Given the description of an element on the screen output the (x, y) to click on. 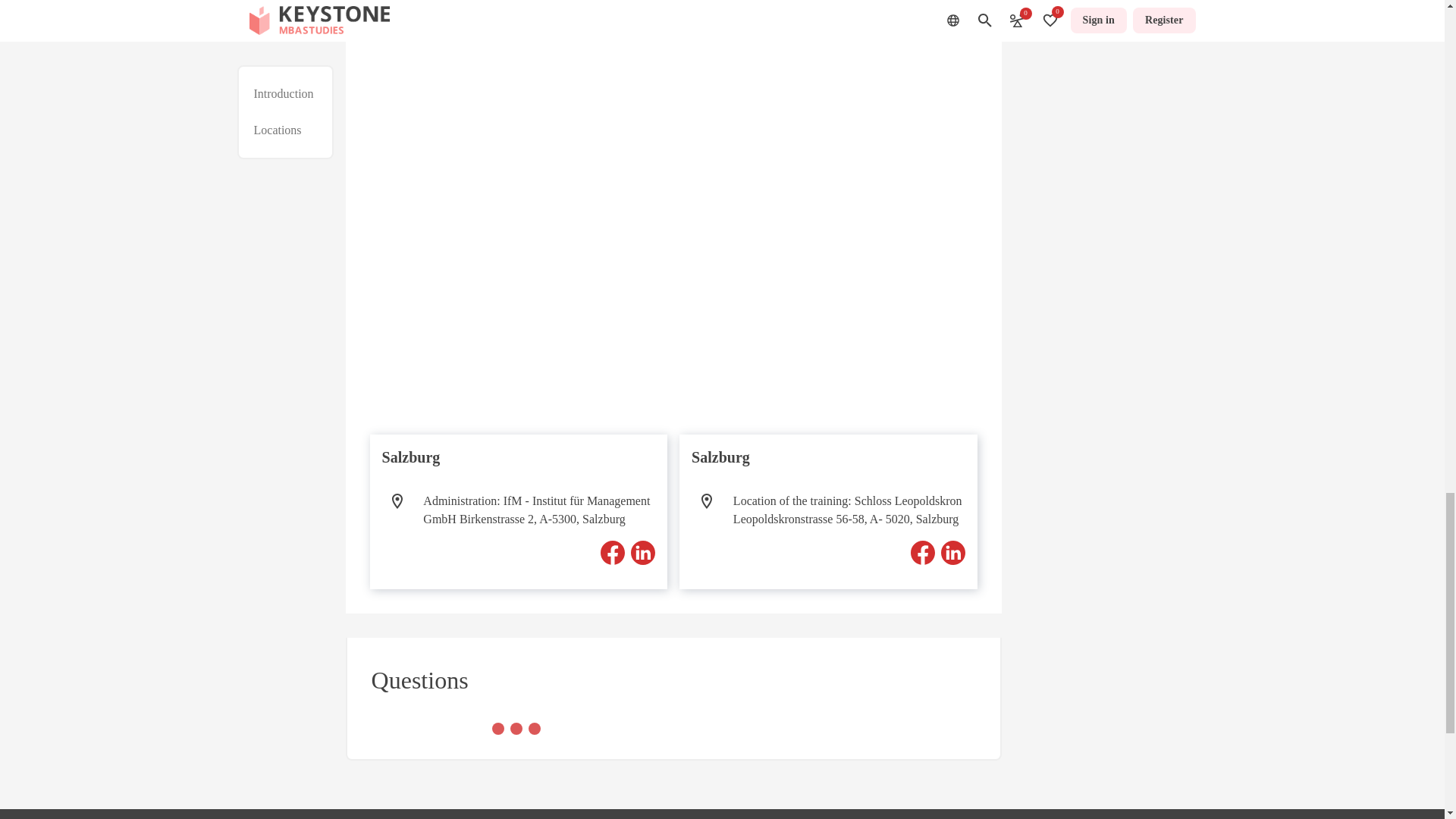
facebook (611, 552)
facebook (922, 552)
linkedin (952, 552)
linkedin (642, 552)
